Given the description of an element on the screen output the (x, y) to click on. 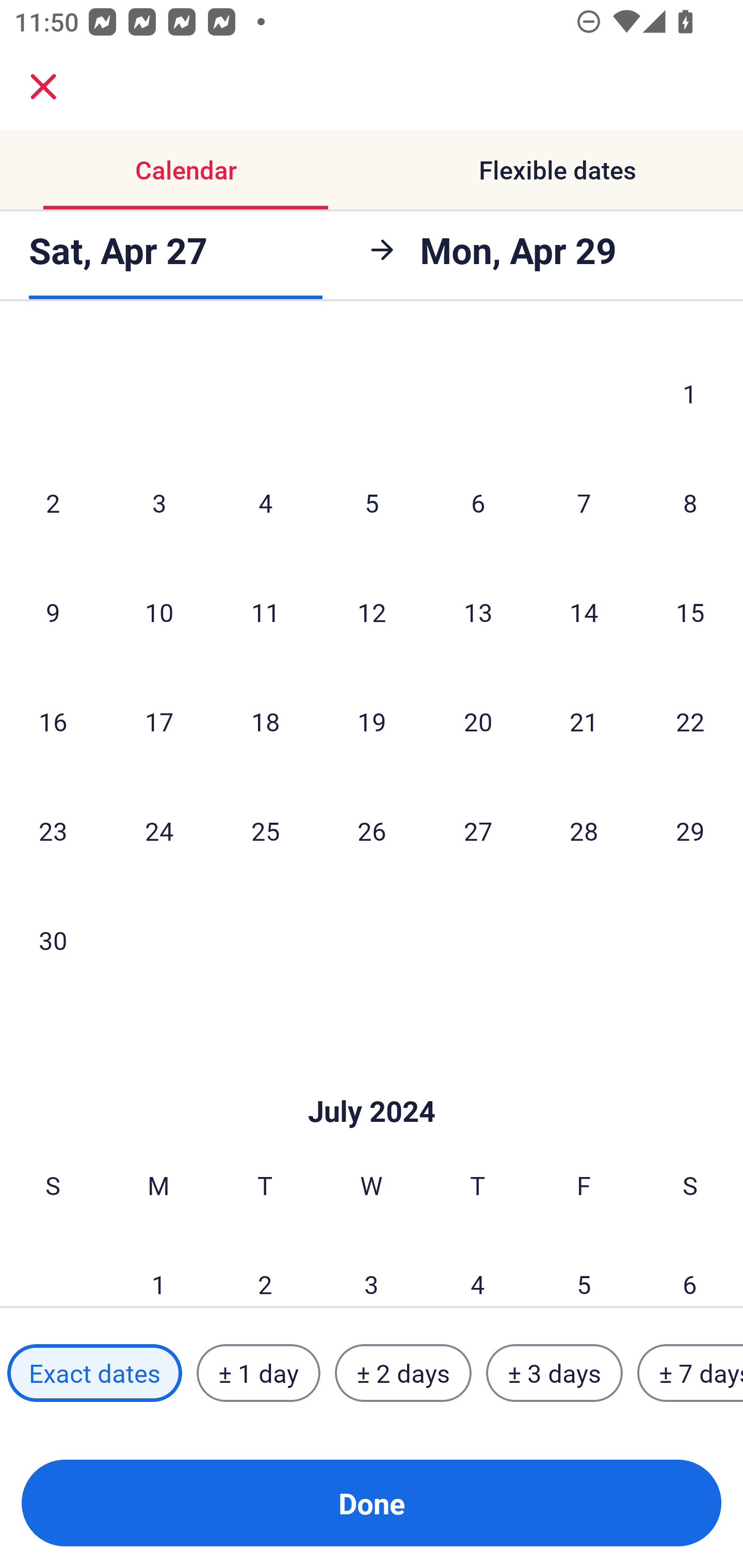
close. (43, 86)
Flexible dates (557, 170)
1 Saturday, June 1, 2024 (689, 393)
2 Sunday, June 2, 2024 (53, 502)
3 Monday, June 3, 2024 (159, 502)
4 Tuesday, June 4, 2024 (265, 502)
5 Wednesday, June 5, 2024 (371, 502)
6 Thursday, June 6, 2024 (477, 502)
7 Friday, June 7, 2024 (584, 502)
8 Saturday, June 8, 2024 (690, 502)
9 Sunday, June 9, 2024 (53, 611)
10 Monday, June 10, 2024 (159, 611)
11 Tuesday, June 11, 2024 (265, 611)
12 Wednesday, June 12, 2024 (371, 611)
13 Thursday, June 13, 2024 (477, 611)
14 Friday, June 14, 2024 (584, 611)
15 Saturday, June 15, 2024 (690, 611)
16 Sunday, June 16, 2024 (53, 720)
17 Monday, June 17, 2024 (159, 720)
18 Tuesday, June 18, 2024 (265, 720)
19 Wednesday, June 19, 2024 (371, 720)
20 Thursday, June 20, 2024 (477, 720)
21 Friday, June 21, 2024 (584, 720)
22 Saturday, June 22, 2024 (690, 720)
23 Sunday, June 23, 2024 (53, 829)
24 Monday, June 24, 2024 (159, 829)
25 Tuesday, June 25, 2024 (265, 829)
26 Wednesday, June 26, 2024 (371, 829)
27 Thursday, June 27, 2024 (477, 829)
28 Friday, June 28, 2024 (584, 829)
29 Saturday, June 29, 2024 (690, 829)
30 Sunday, June 30, 2024 (53, 939)
Skip to Done (371, 1081)
1 Monday, July 1, 2024 (158, 1268)
2 Tuesday, July 2, 2024 (264, 1268)
3 Wednesday, July 3, 2024 (371, 1268)
4 Thursday, July 4, 2024 (477, 1268)
5 Friday, July 5, 2024 (583, 1268)
6 Saturday, July 6, 2024 (689, 1268)
Exact dates (94, 1372)
± 1 day (258, 1372)
± 2 days (403, 1372)
± 3 days (553, 1372)
± 7 days (690, 1372)
Done (371, 1502)
